Given the description of an element on the screen output the (x, y) to click on. 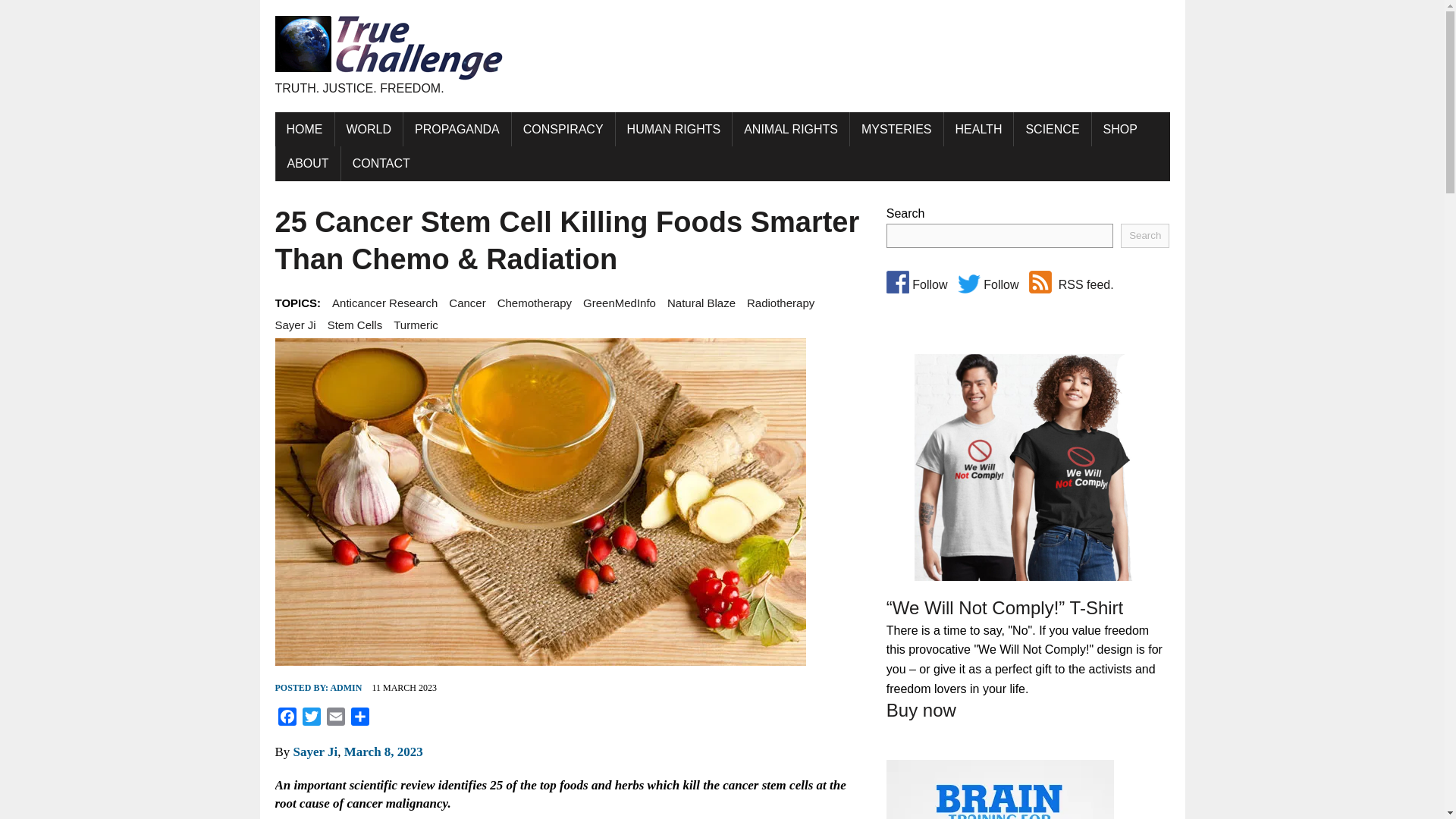
Email (335, 719)
Follow True Challenge on Facebook. (897, 282)
HOME (304, 129)
ANIMAL RIGHTS (790, 129)
SCIENCE (1051, 129)
Email (335, 719)
Cancer (466, 303)
WORLD (368, 129)
MYSTERIES (896, 129)
Radiotherapy (779, 303)
Twitter (310, 719)
Facebook (286, 719)
Follow True Challenge on Twitter. (968, 283)
ADMIN (345, 687)
HUMAN RIGHTS (673, 129)
